Given the description of an element on the screen output the (x, y) to click on. 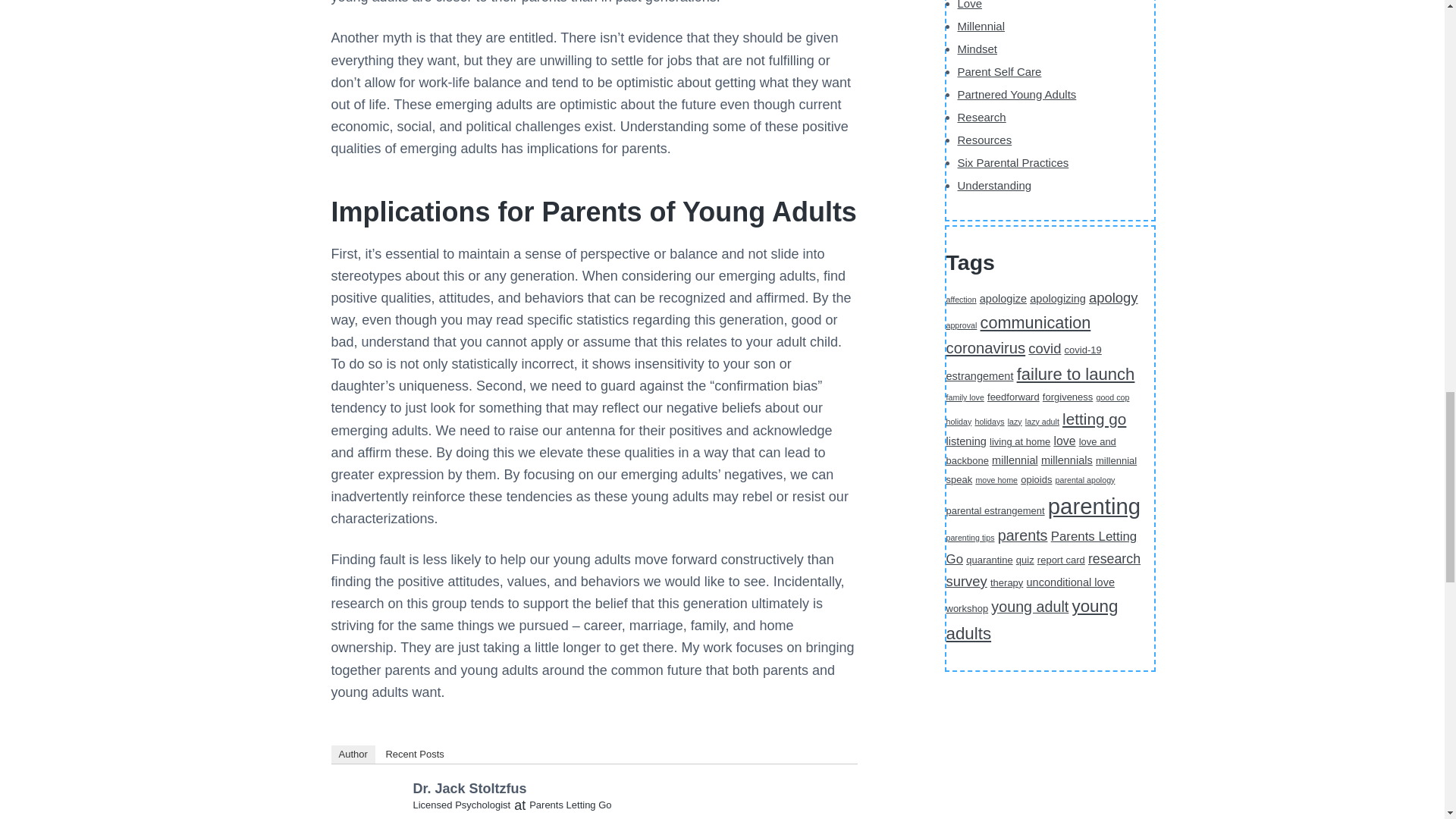
Author (352, 754)
Recent Posts (414, 754)
Dr. Jack Stoltzfus (369, 803)
